Given the description of an element on the screen output the (x, y) to click on. 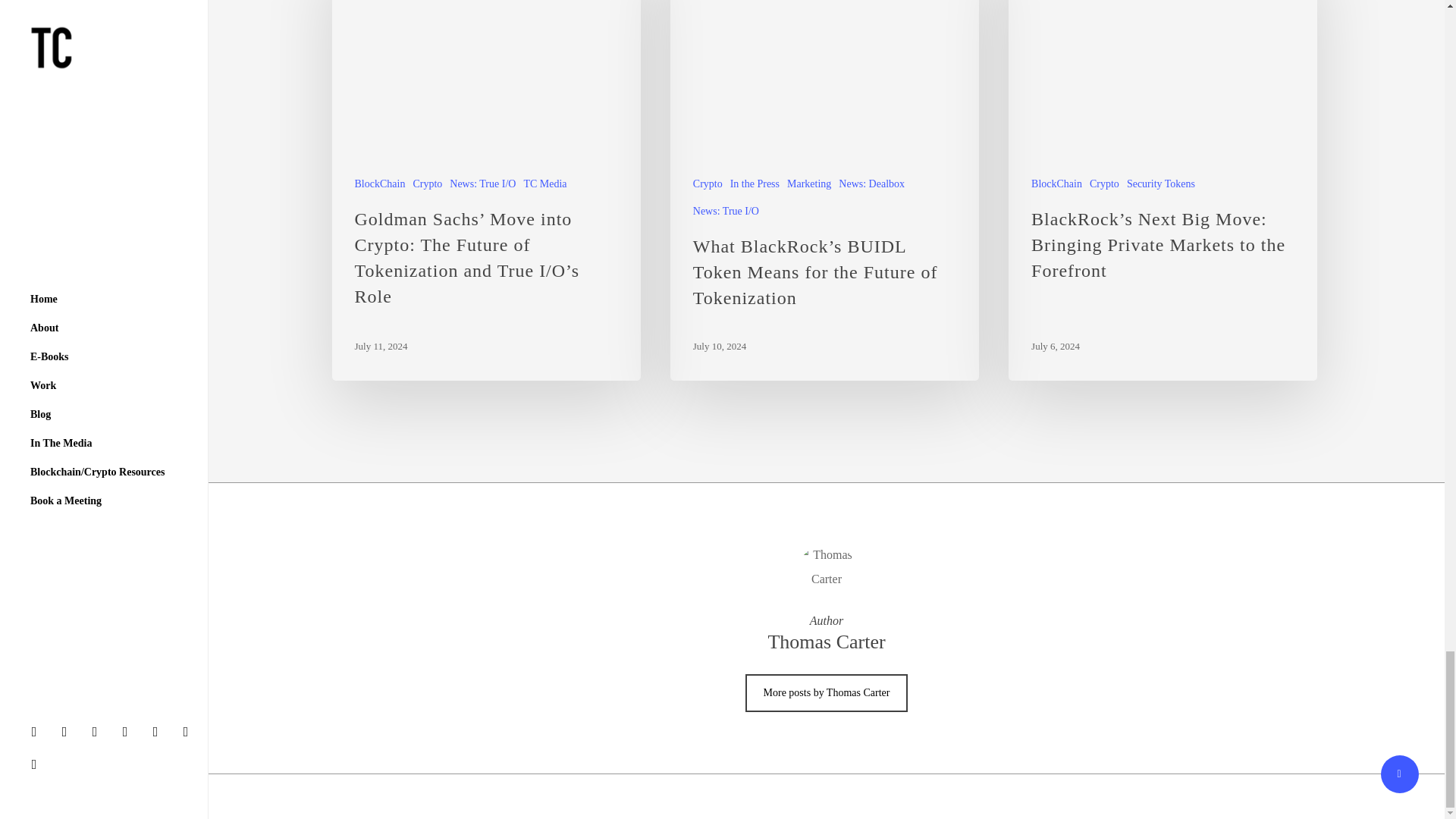
BlockChain (380, 183)
Crypto (427, 183)
TC Media (544, 183)
